Given the description of an element on the screen output the (x, y) to click on. 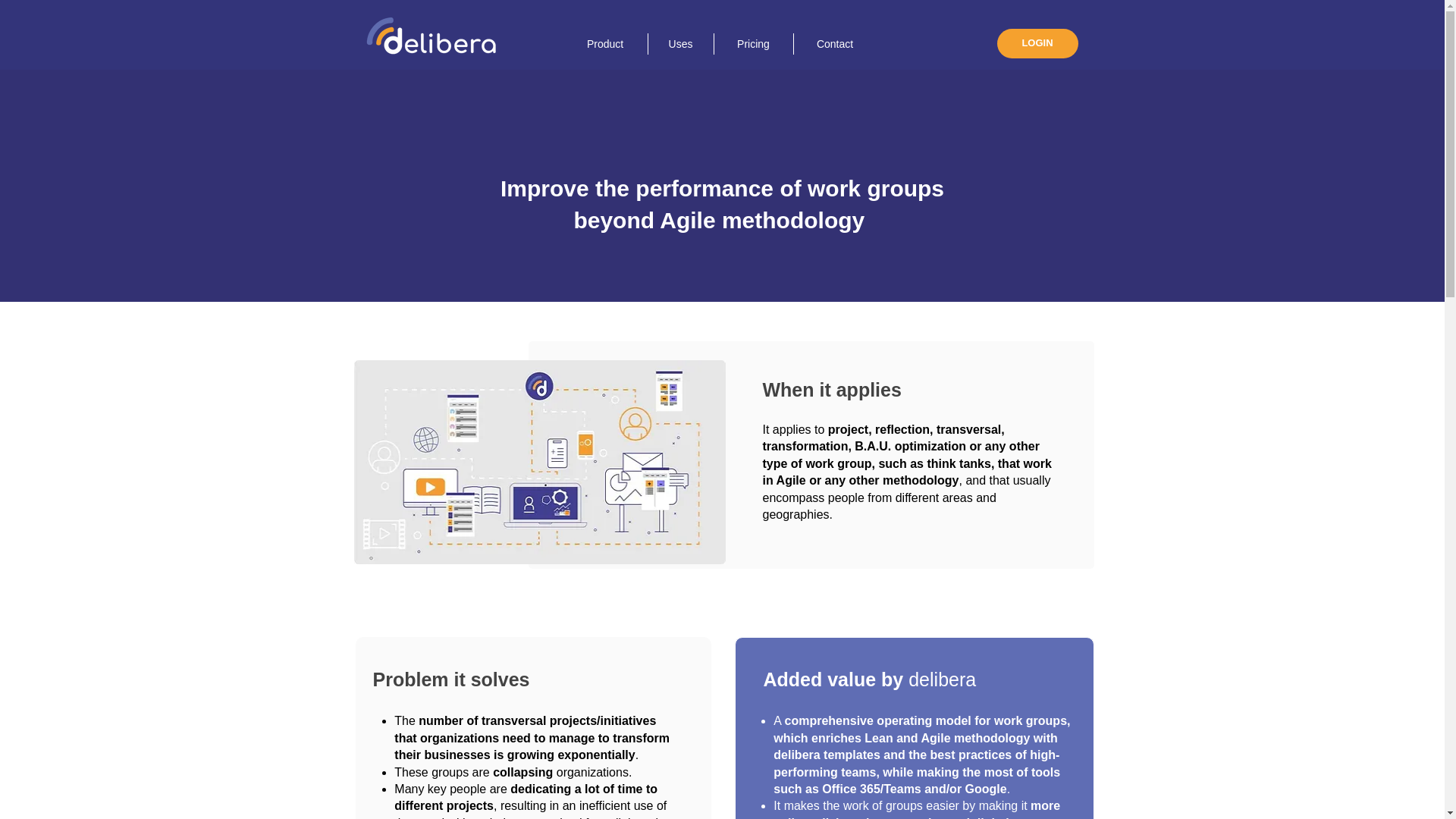
LOGIN (1036, 43)
Product (604, 43)
Contact (834, 43)
Pricing (752, 43)
Uses (680, 43)
